Given the description of an element on the screen output the (x, y) to click on. 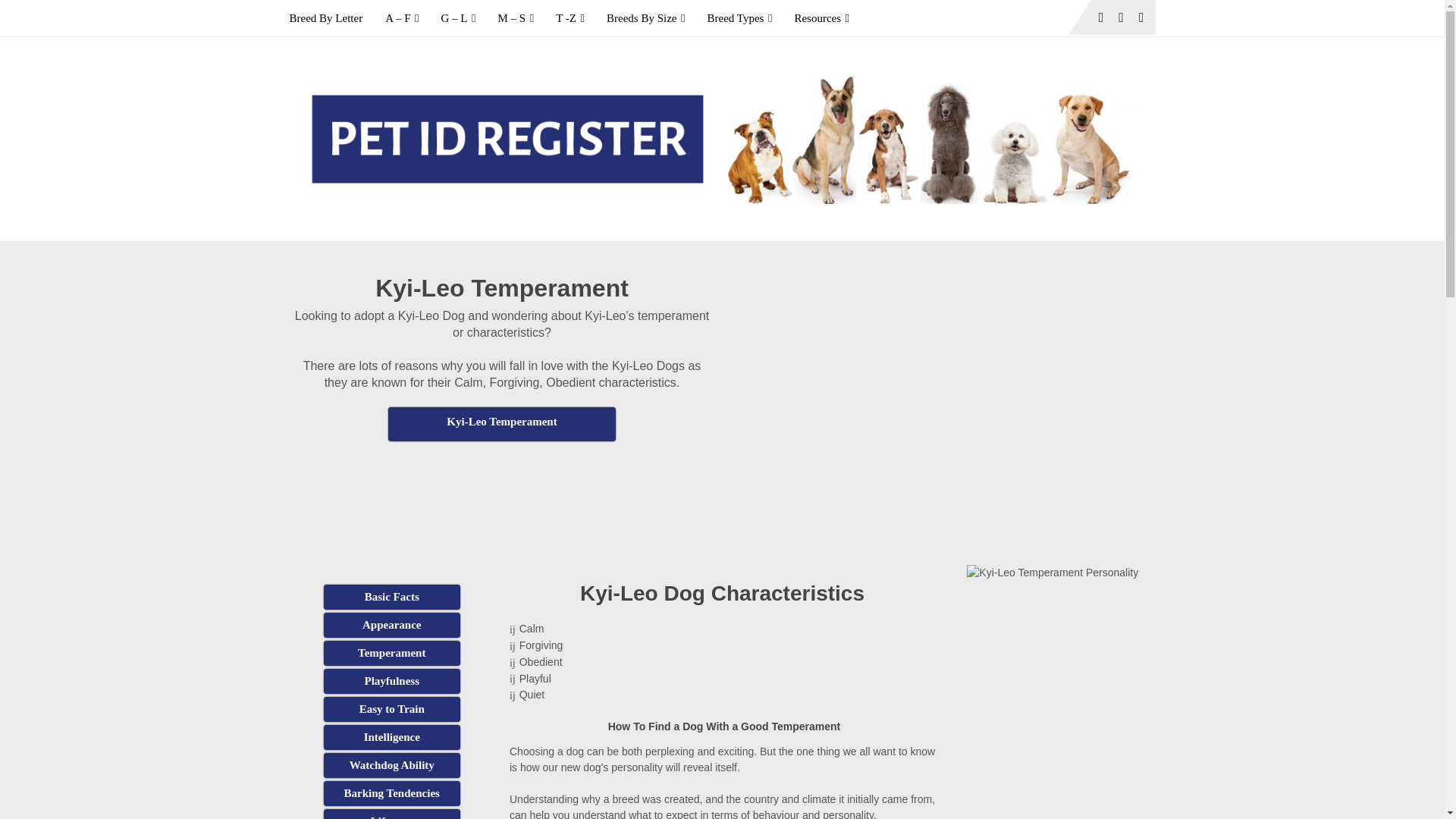
tooltip (501, 424)
Advertisement (501, 479)
Do Kyi-Leo Dogs bark a lot? (391, 793)
Breed By Letter (331, 18)
Breed Types (739, 18)
Are Kyi-Leo Dogs playful? (391, 681)
Are Kyi-Leo Dogs intelligent? (391, 737)
Are Kyi-Leo Dogs Easy to Train? (391, 708)
Resources (821, 18)
How does a Kyi-Leo Dog look like? (391, 625)
Breeds By Size (645, 18)
What are the temperaments of Kyi-Leo Dogs? (391, 652)
T -Z (569, 18)
Kyi-Leo Dog Information? (391, 596)
Will Kyi-Leo Dogs make good guard dogs? (391, 765)
